Given the description of an element on the screen output the (x, y) to click on. 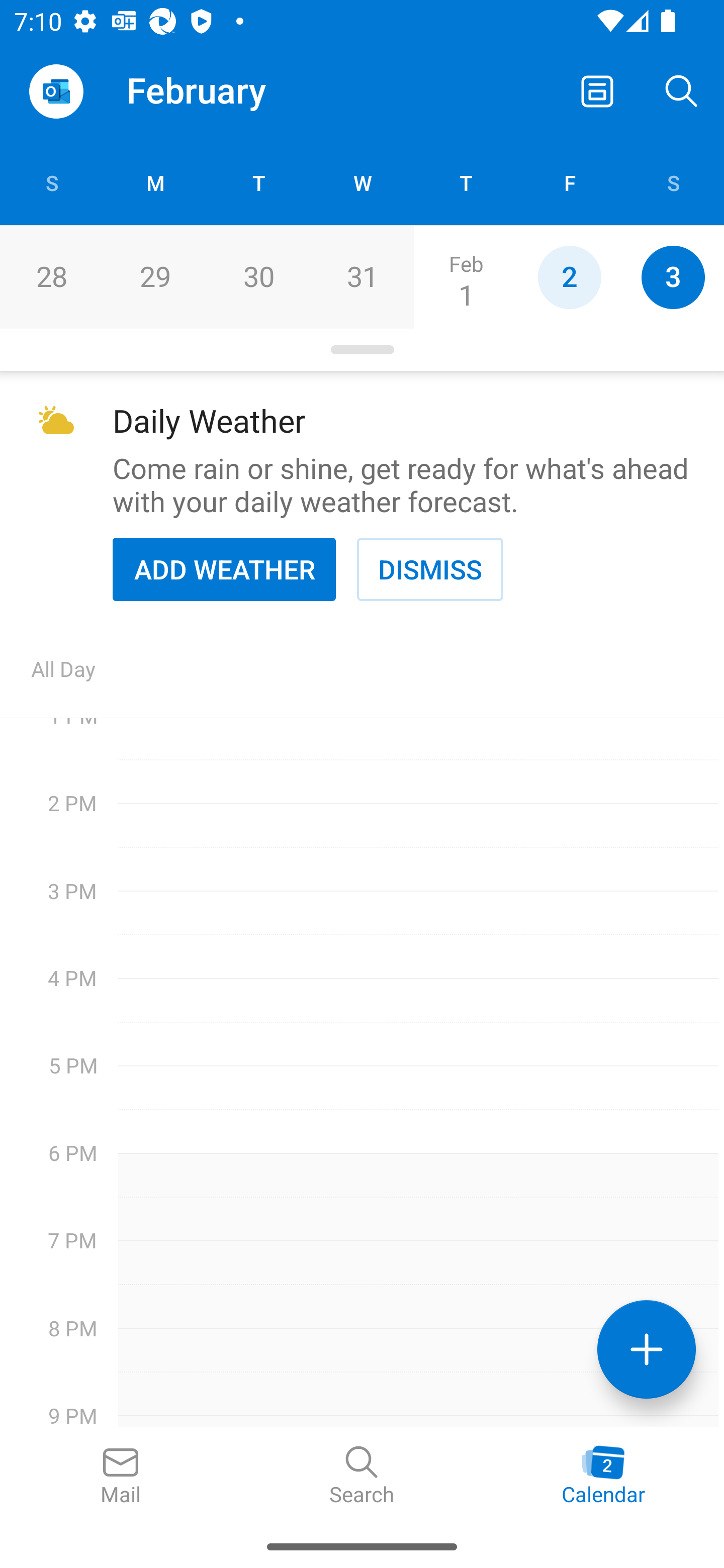
February February 2024, day picker expand (209, 90)
Switch away from Day view (597, 90)
Search (681, 90)
Open Navigation Drawer (55, 91)
28 Sunday, January 28 (51, 277)
29 Monday, January 29 (155, 277)
30 Tuesday, January 30 (258, 277)
31 Wednesday, January 31 (362, 277)
Feb
1 Thursday, February 1 (465, 277)
2 Friday, February 2, today (569, 277)
3 Saturday, February 3, Selected (672, 277)
Day picker expand (362, 350)
ADD WEATHER (224, 568)
DISMISS (429, 568)
Add new event (646, 1348)
Mail (120, 1475)
Search (361, 1475)
